Given the description of an element on the screen output the (x, y) to click on. 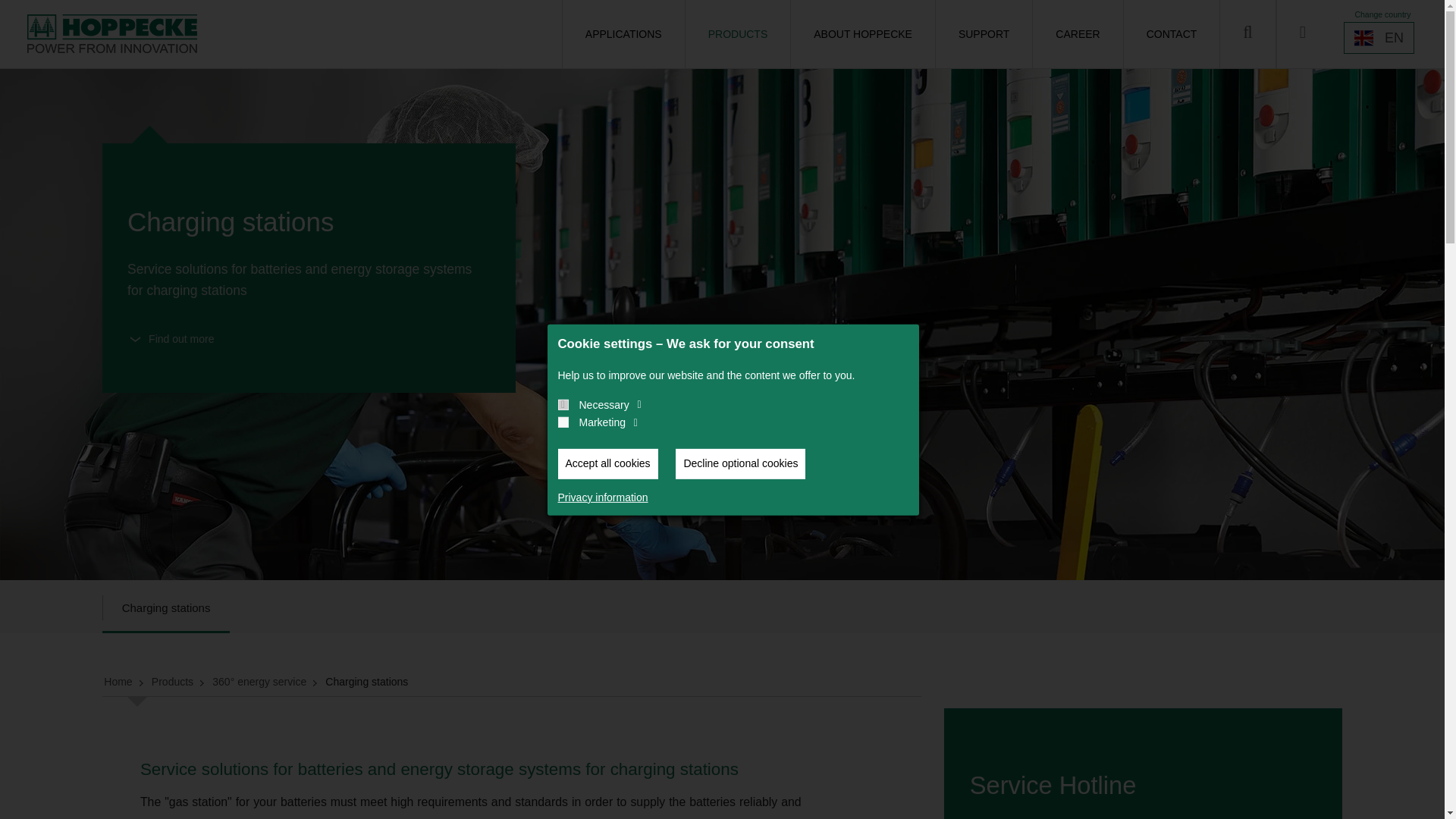
PRODUCTS (737, 33)
HOPPECKE Service (1301, 33)
APPLICATIONS (623, 33)
Change location (1378, 38)
ABOUT HOPPECKE (862, 33)
SUPPORT (983, 33)
